Given the description of an element on the screen output the (x, y) to click on. 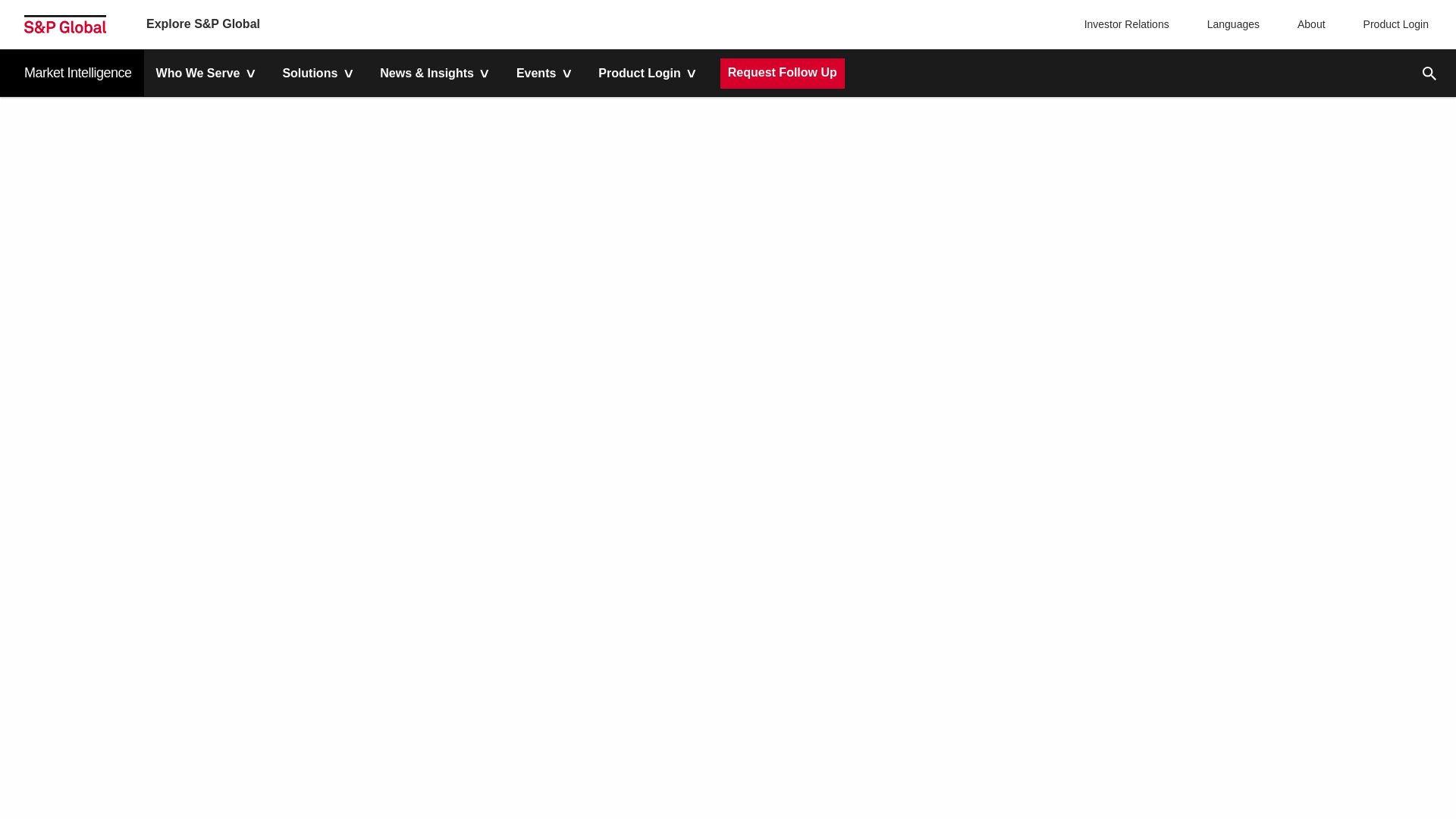
About (1307, 24)
Languages (1230, 24)
Investor Relations (1129, 24)
Product Login (1392, 24)
